Given the description of an element on the screen output the (x, y) to click on. 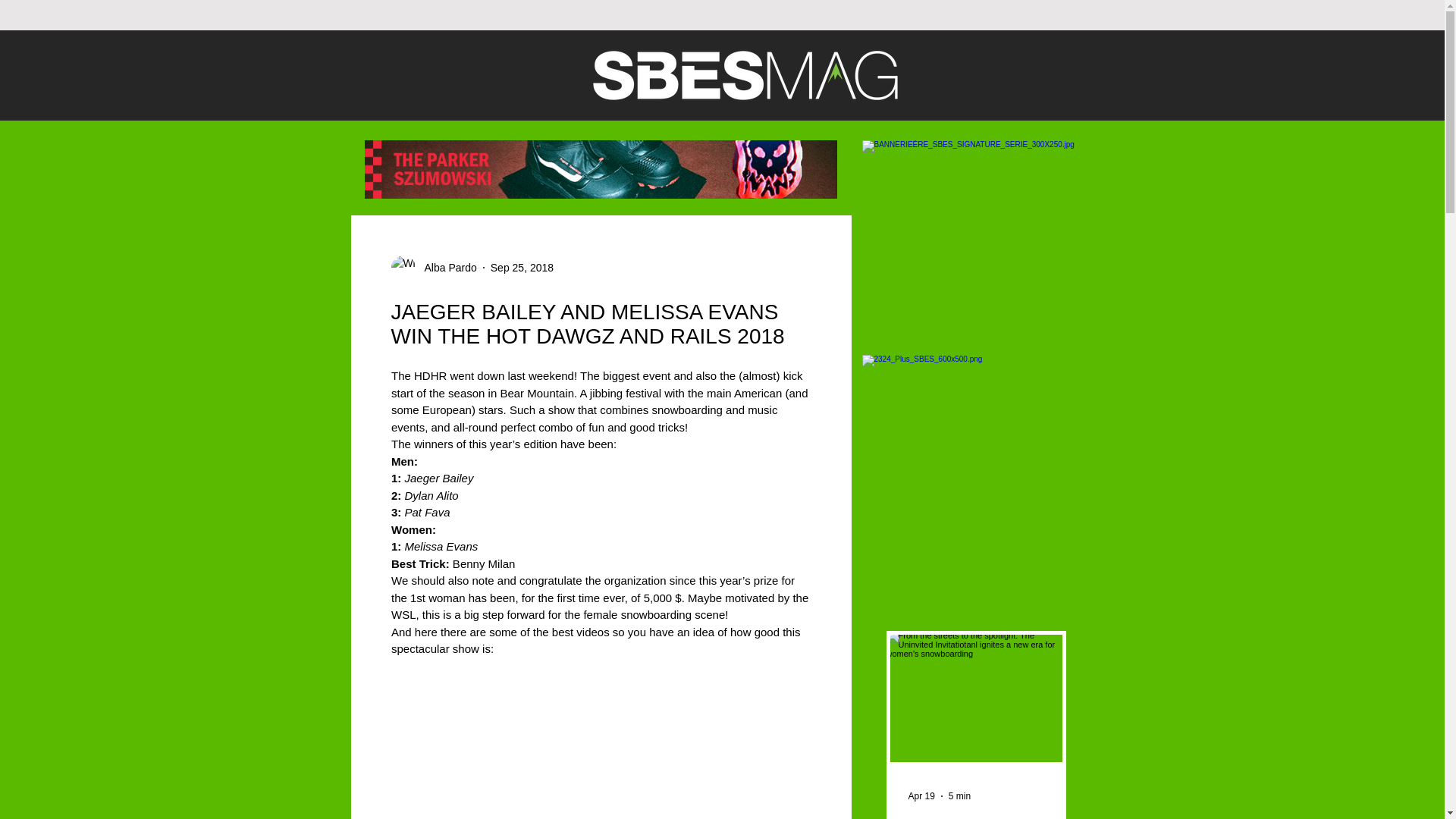
5 min (960, 796)
Apr 19 (921, 796)
Alba Pardo (445, 267)
Sep 25, 2018 (521, 266)
